Given the description of an element on the screen output the (x, y) to click on. 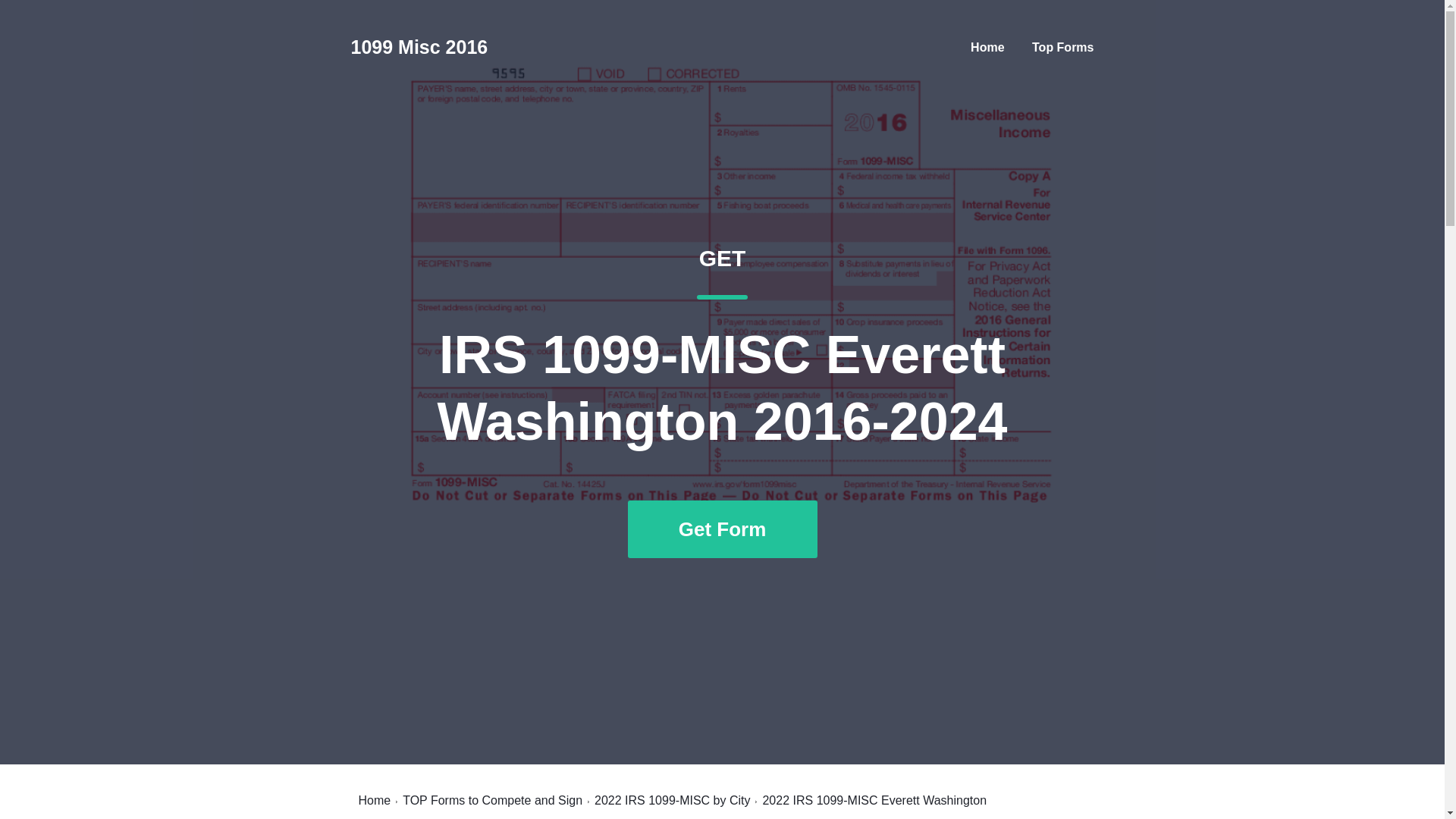
2022 IRS 1099-MISC by City (671, 800)
Home (374, 800)
Top Forms (1062, 47)
1099 Misc 2016 (987, 47)
TOP Forms to Compete and Sign (418, 46)
